Given the description of an element on the screen output the (x, y) to click on. 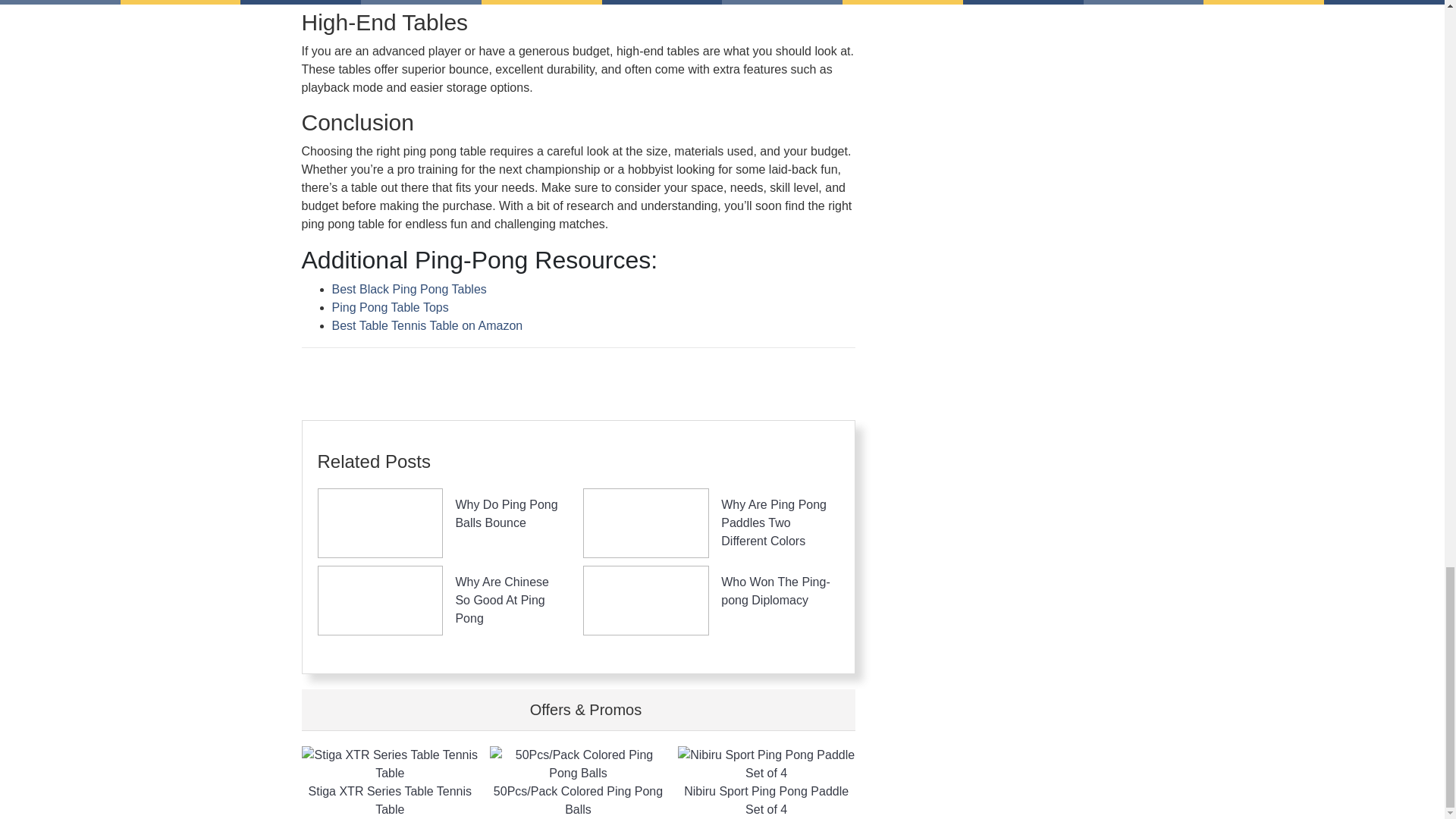
Why Are Chinese So Good At Ping Pong (501, 599)
Why Are Ping Pong Paddles Two Different Colors (773, 522)
Who Won The Ping-pong Diplomacy (774, 590)
Why Do Ping Pong Balls Bounce (505, 513)
Best Table Tennis Table on Amazon (426, 325)
Best Black Ping Pong Tables (408, 288)
Why Are Ping Pong Paddles Two Different Colors (773, 522)
Who Won The Ping-pong Diplomacy (774, 590)
Ping Pong Table Tops (389, 307)
Why Do Ping Pong Balls Bounce (505, 513)
